Given the description of an element on the screen output the (x, y) to click on. 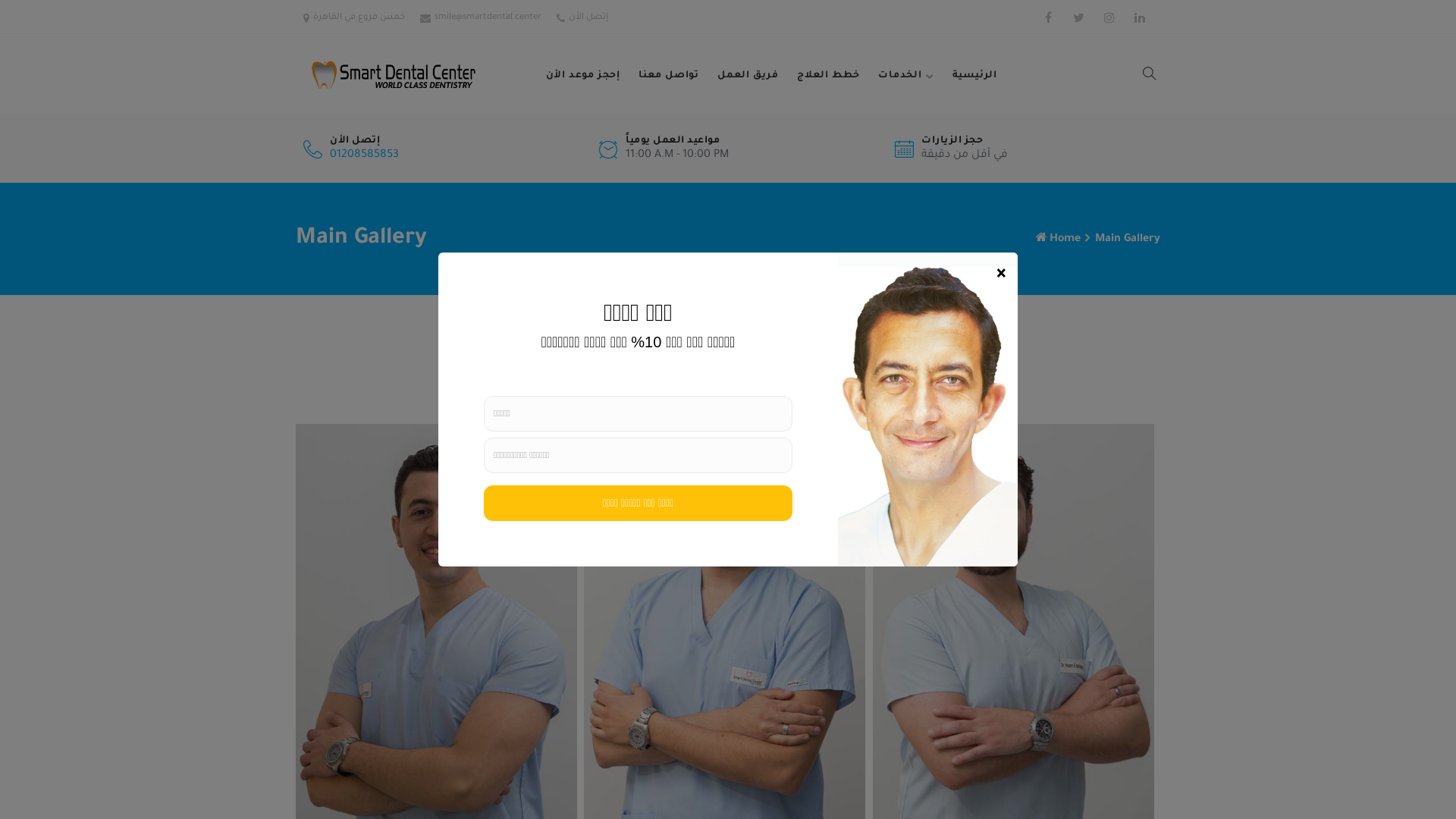
Home Element type: text (1064, 239)
All Images Element type: text (724, 372)
Twitter Element type: hover (1078, 17)
Linkedin Element type: hover (1138, 17)
01208585853 Element type: text (363, 155)
Facebook Element type: hover (1047, 17)
Instagram Element type: hover (1108, 17)
smile@smartdental.center Element type: text (487, 17)
